Given the description of an element on the screen output the (x, y) to click on. 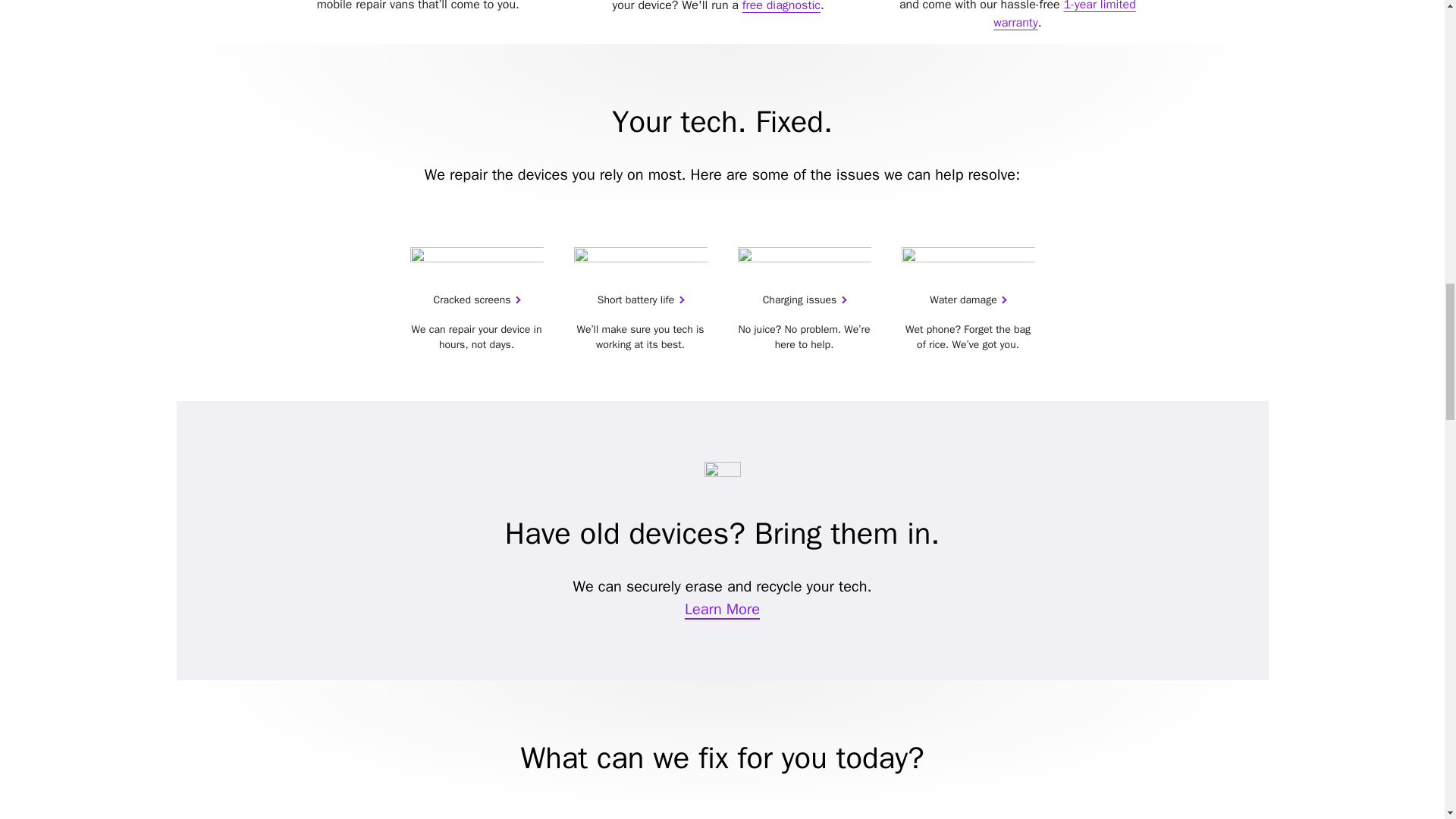
Cracked screens (475, 299)
Charging issues (803, 299)
free diagnostic (781, 6)
Short battery life (639, 299)
Water damage (968, 299)
1-year limited warranty (1063, 15)
